Given the description of an element on the screen output the (x, y) to click on. 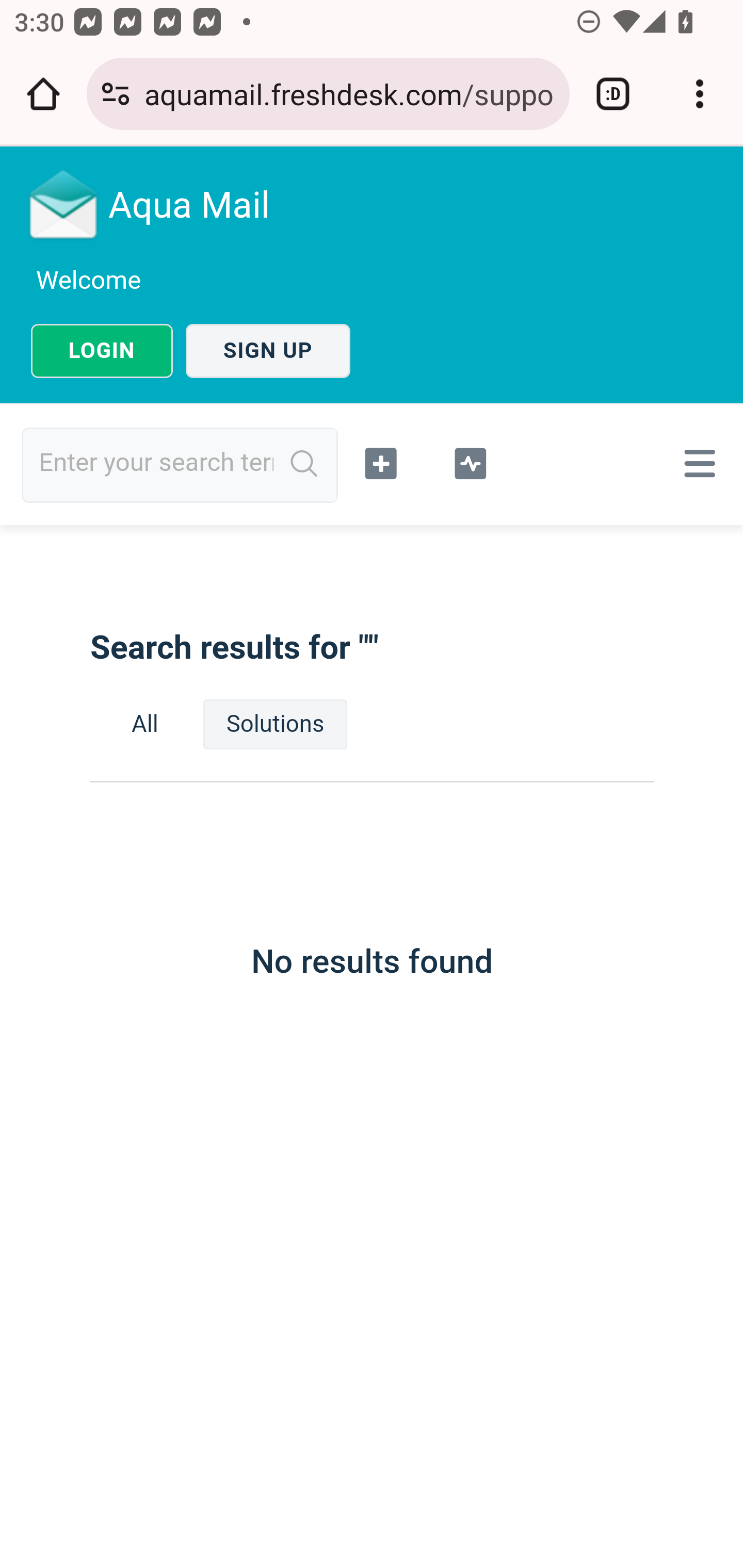
Open the home page (43, 93)
Connection is secure (115, 93)
Switch or close tabs (612, 93)
Customize and control Google Chrome (699, 93)
Logo (63, 204)
LOGIN (101, 351)
SIGN UP (268, 351)
   (695, 463)
Search (304, 464)
   (381, 460)
 (470, 460)
All (145, 724)
Solutions (275, 724)
